Given the description of an element on the screen output the (x, y) to click on. 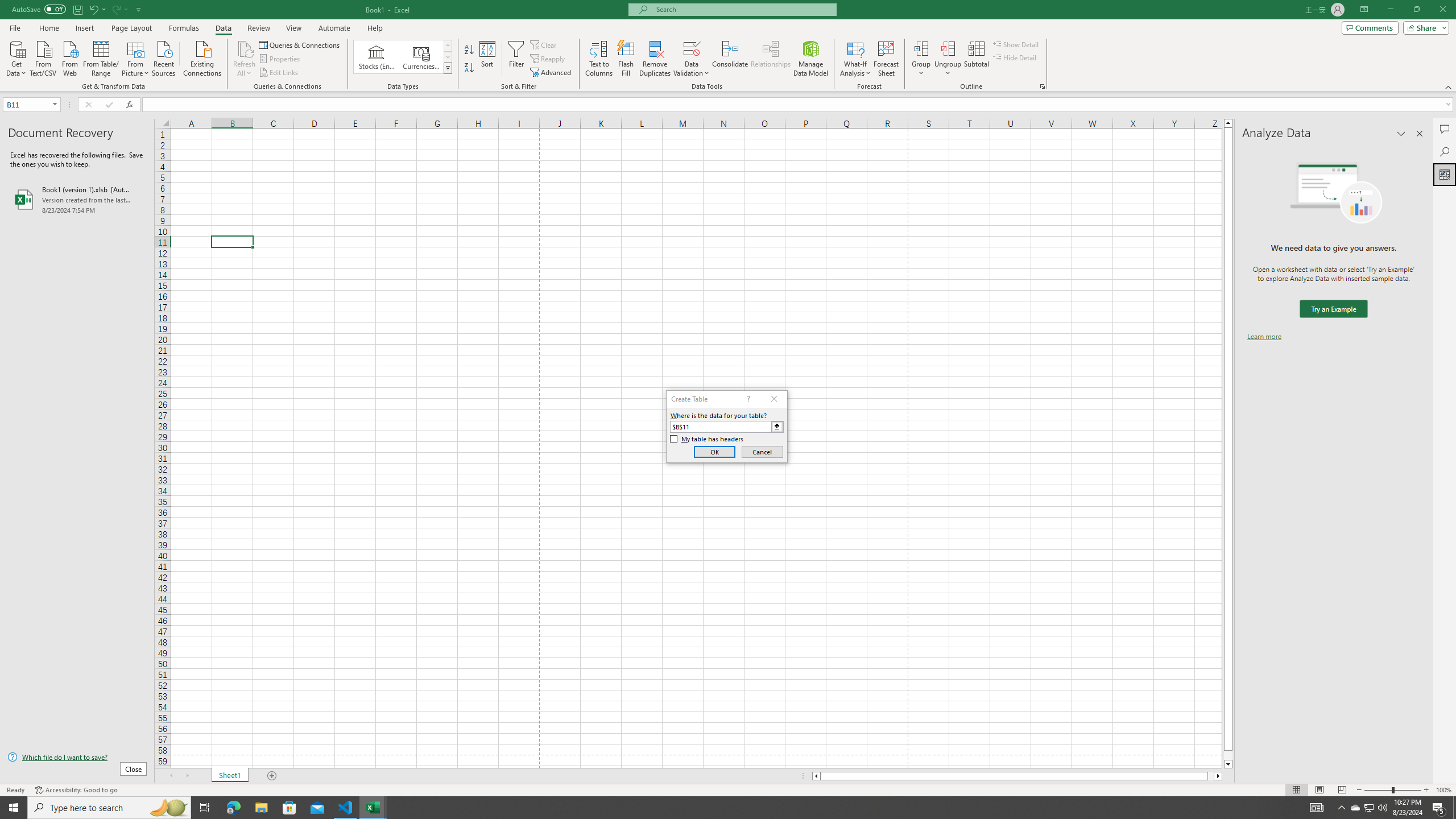
Help (374, 28)
Customize Quick Access Toolbar (139, 9)
Class: NetUIImage (447, 68)
Relationships (770, 58)
We need data to give you answers. Try an Example (1333, 308)
Remove Duplicates (654, 58)
Currencies (English) (420, 56)
Clear (544, 44)
Class: MsoCommandBar (728, 45)
